Given the description of an element on the screen output the (x, y) to click on. 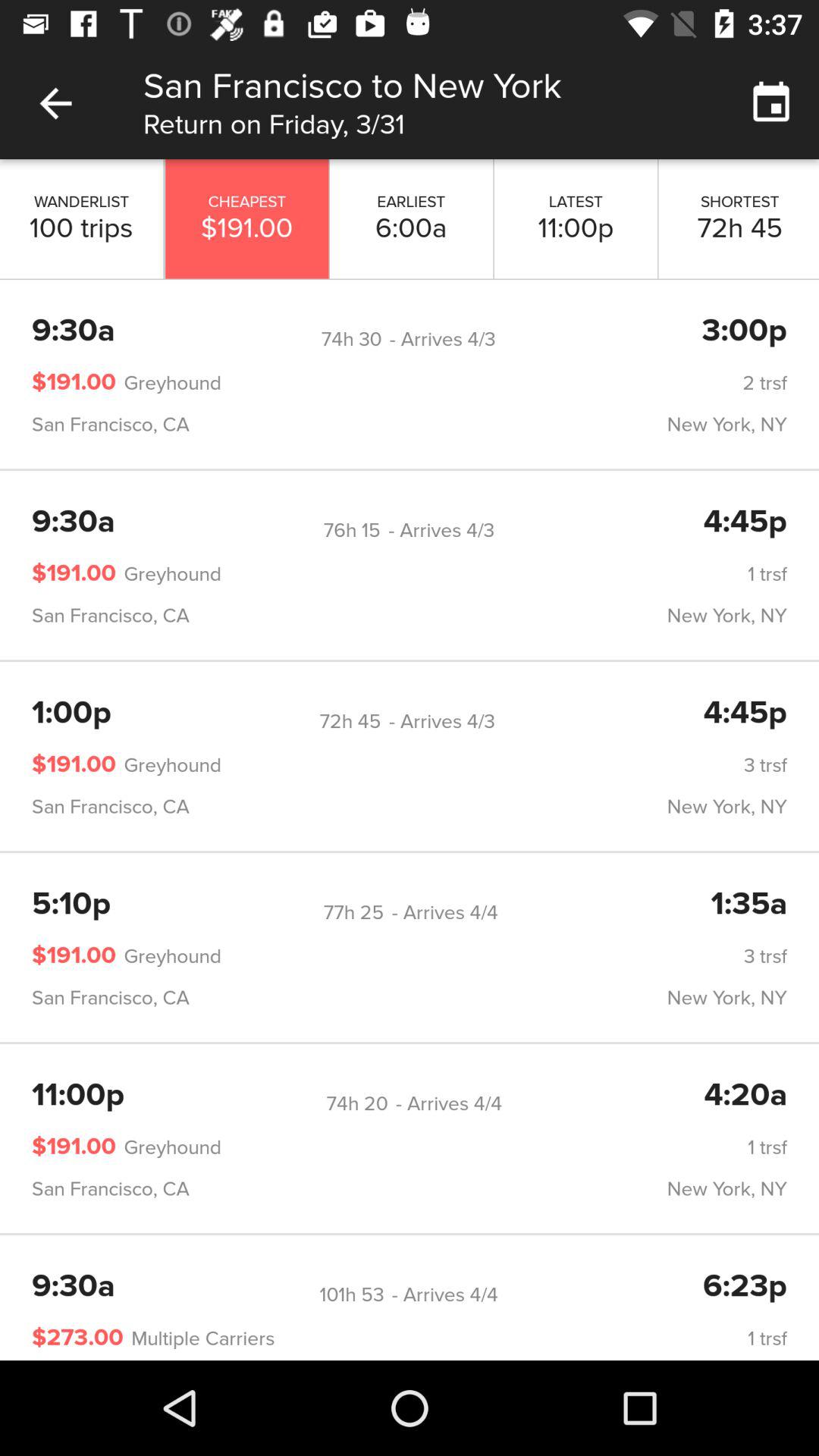
click icon next to the $273.00 icon (198, 1338)
